Given the description of an element on the screen output the (x, y) to click on. 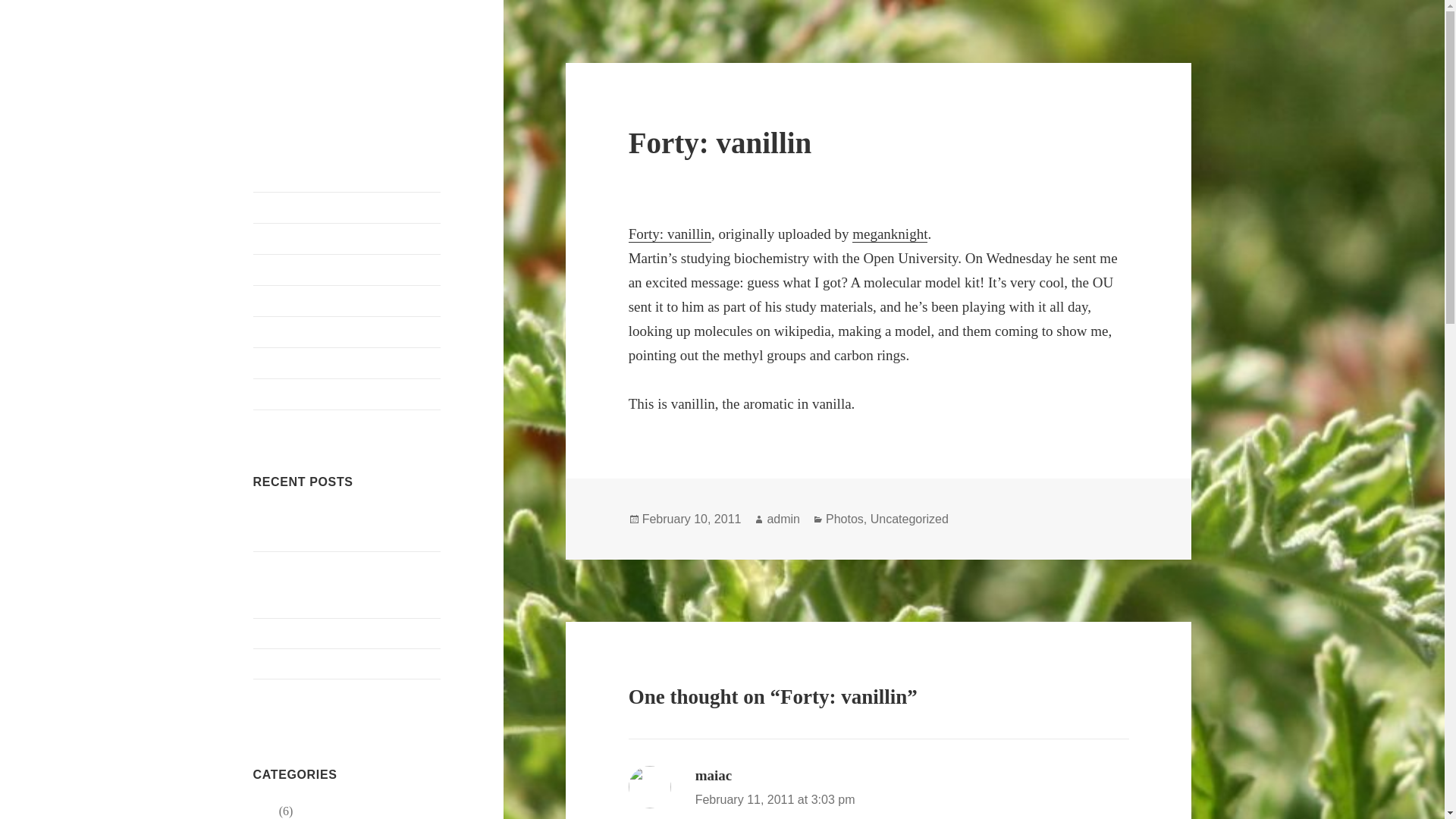
Data (347, 269)
Researching Facebook: ethics, techniques and discussions. (327, 526)
Social Media Research Project (328, 694)
Internet (347, 300)
Uncategorized (909, 519)
Journalism (347, 238)
meganknight (889, 234)
admin (783, 519)
Photos (844, 519)
February 11, 2011 at 3:03 pm (775, 799)
About me (347, 207)
Forty: vanillin (669, 234)
Photos (347, 394)
Research (347, 331)
February 10, 2011 (691, 519)
